Given the description of an element on the screen output the (x, y) to click on. 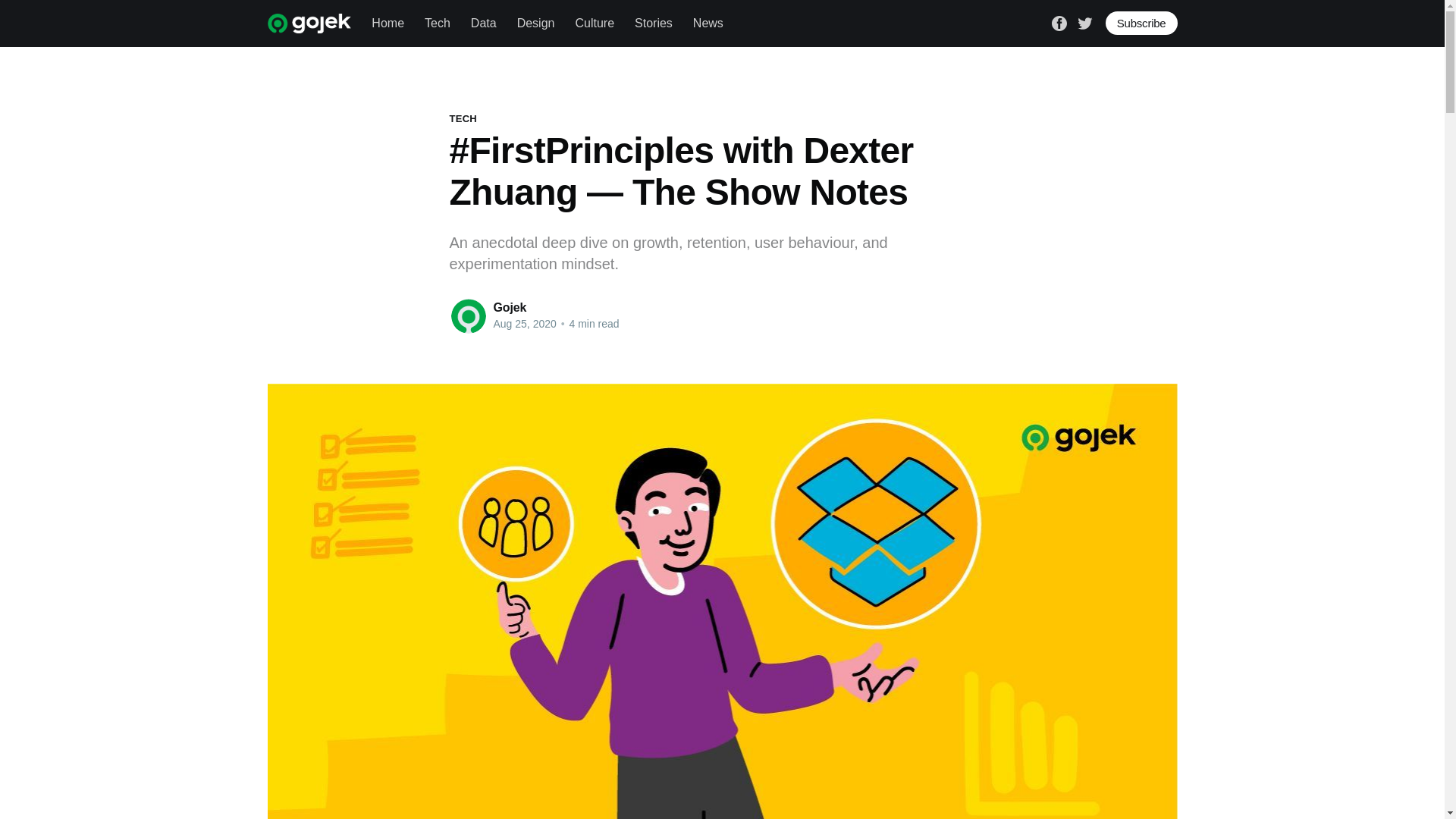
Subscribe (1141, 23)
Culture (594, 22)
Data (483, 22)
Gojek (509, 307)
Tech (437, 22)
Design (535, 22)
Stories (653, 22)
Home (387, 22)
TECH (462, 119)
News (708, 22)
Twitter (1085, 21)
Facebook (1059, 21)
